Given the description of an element on the screen output the (x, y) to click on. 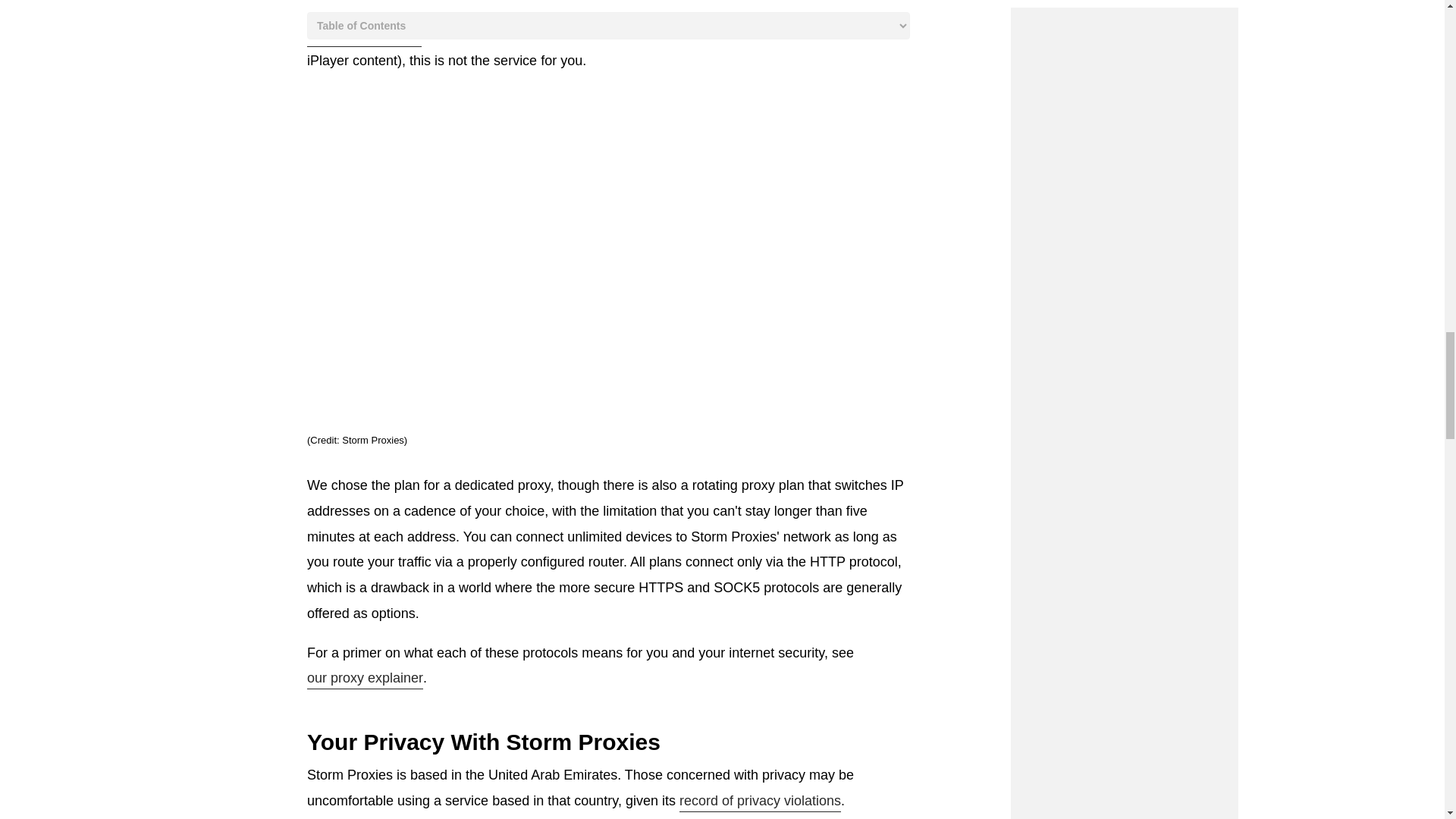
our proxy explainer (365, 679)
spoof your location (364, 36)
